Given the description of an element on the screen output the (x, y) to click on. 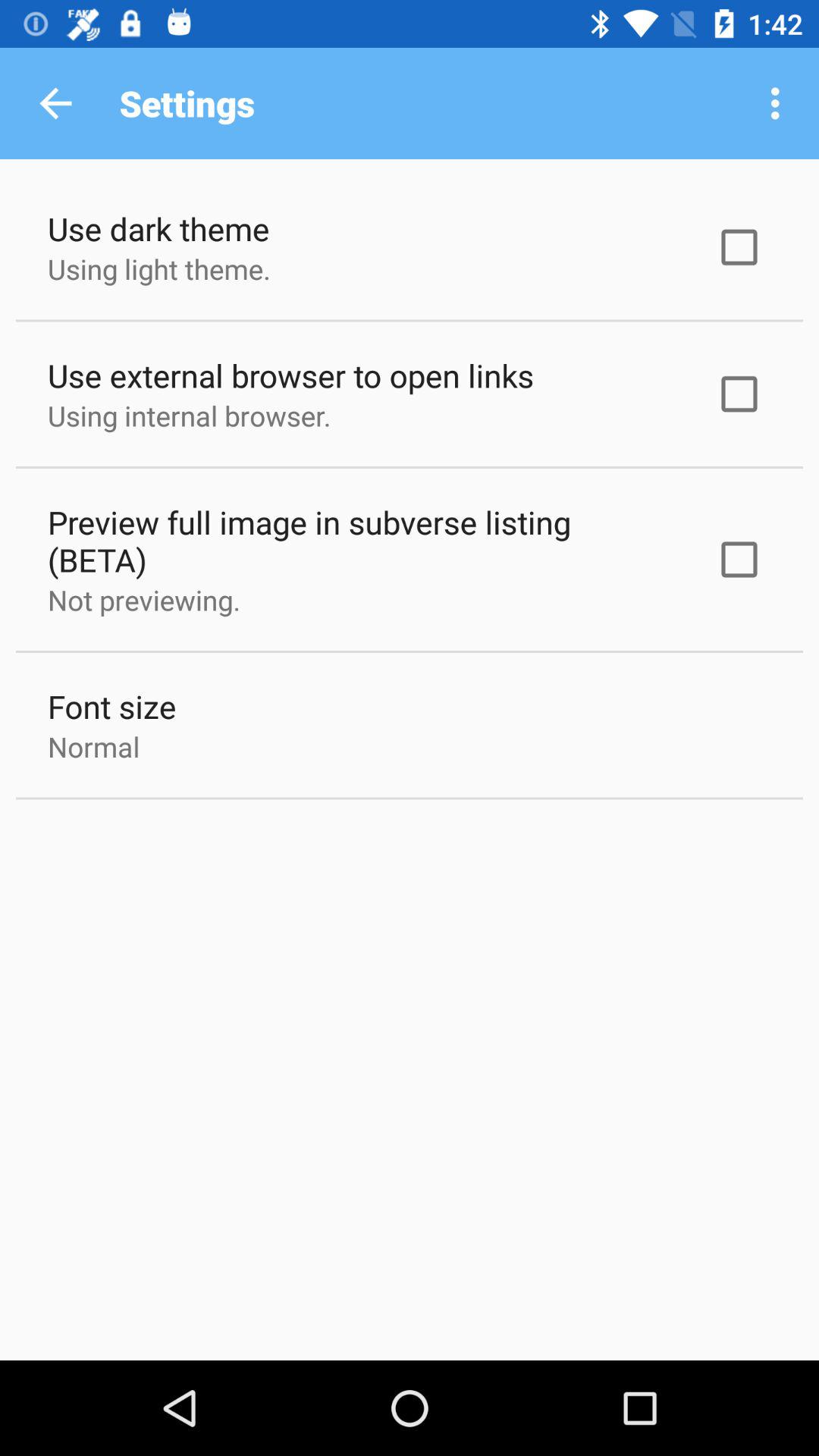
launch the item below font size icon (93, 746)
